Given the description of an element on the screen output the (x, y) to click on. 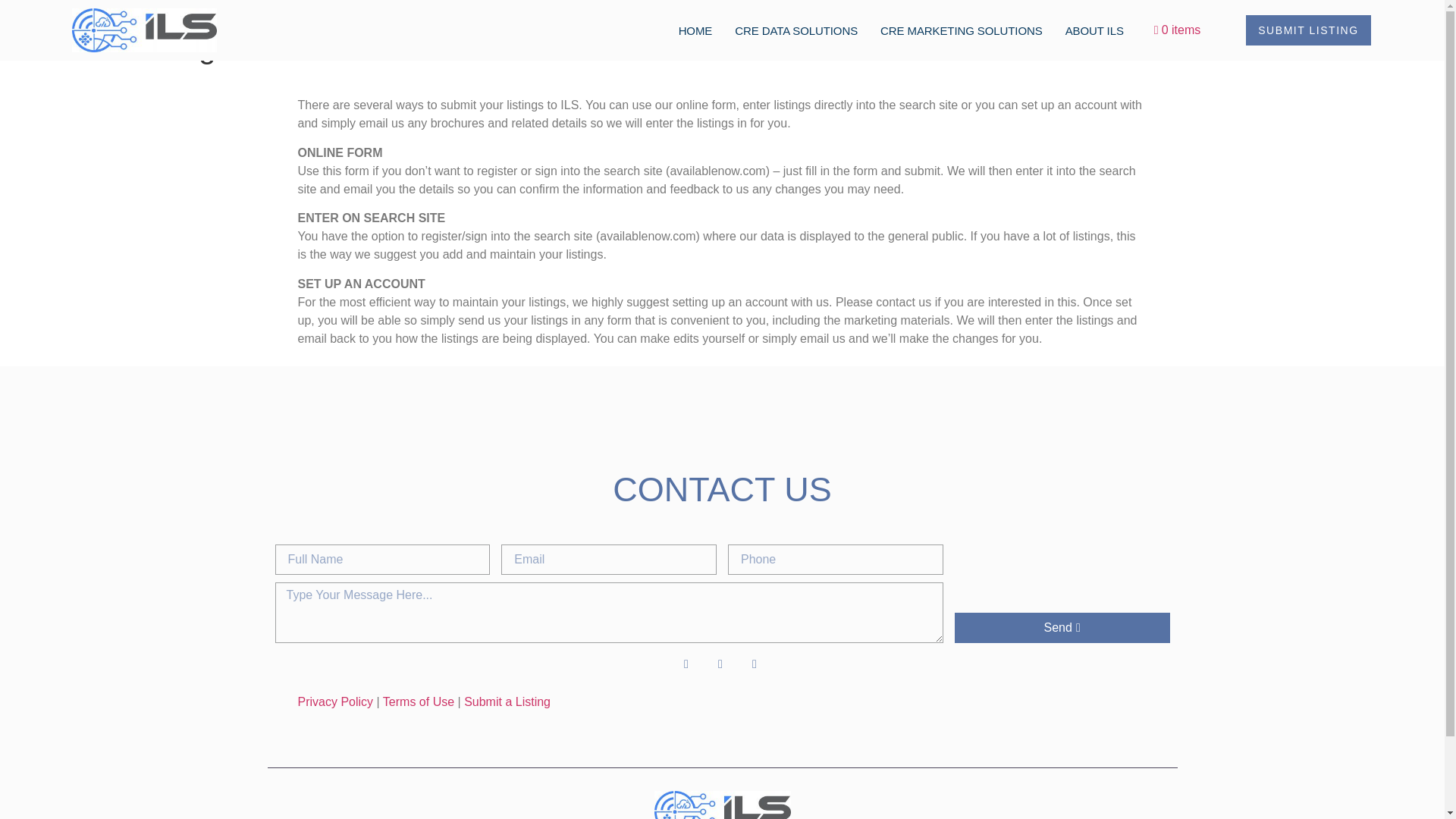
Submit a Listing (507, 701)
Privacy Policy (334, 701)
HOME (695, 30)
Terms of Use (418, 701)
CRE MARKETING SOLUTIONS (960, 30)
Send (1062, 627)
Start shopping (1176, 30)
SUBMIT LISTING (1308, 30)
ABOUT ILS (1094, 30)
0 items (1176, 30)
